Given the description of an element on the screen output the (x, y) to click on. 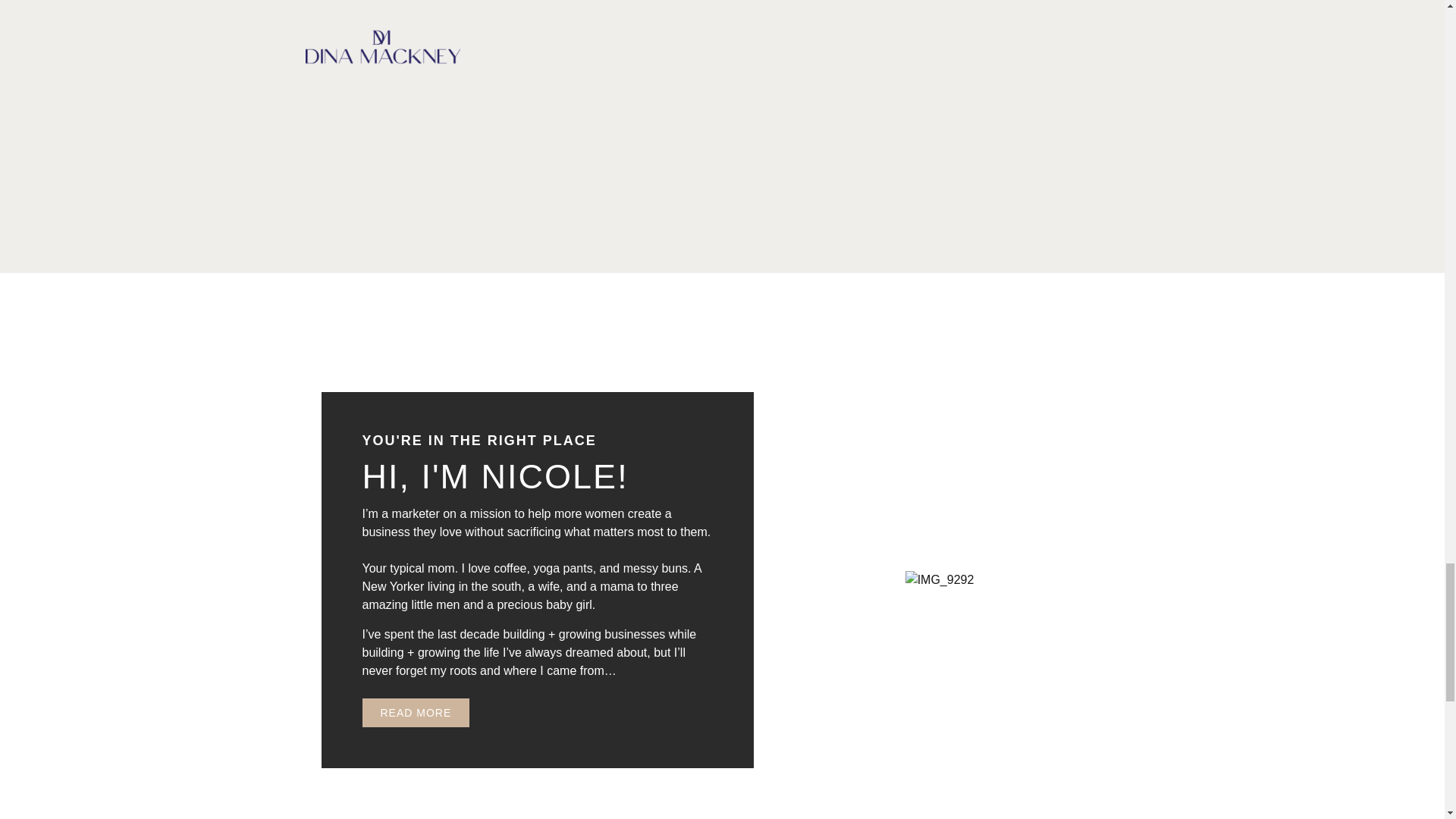
READ MORE (416, 712)
